Given the description of an element on the screen output the (x, y) to click on. 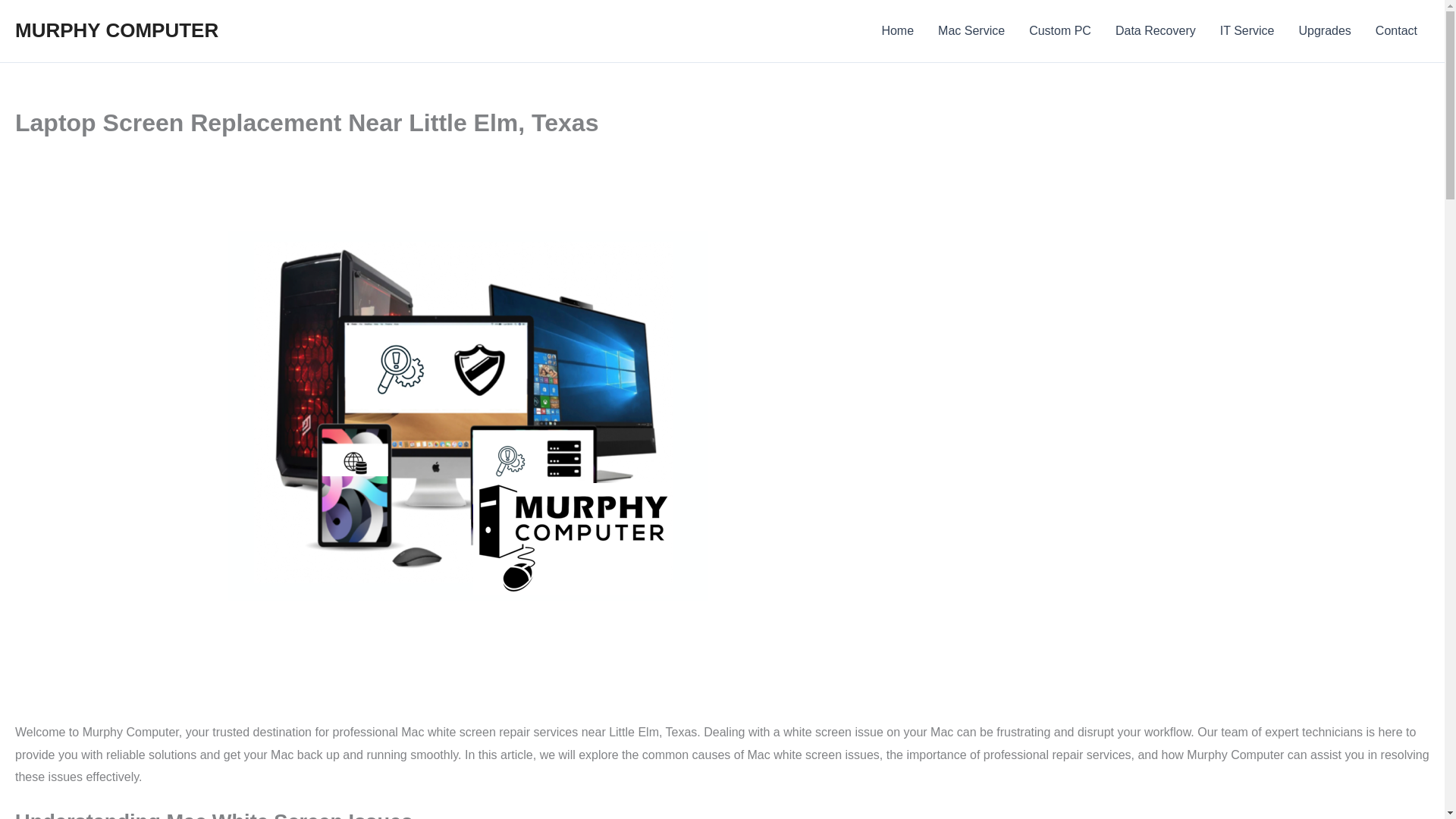
IT Service (1247, 31)
Data Recovery (1155, 31)
MURPHY COMPUTER (116, 29)
Home (897, 31)
Upgrades (1323, 31)
Custom PC (1059, 31)
Contact (1395, 31)
Mac Service (971, 31)
